Given the description of an element on the screen output the (x, y) to click on. 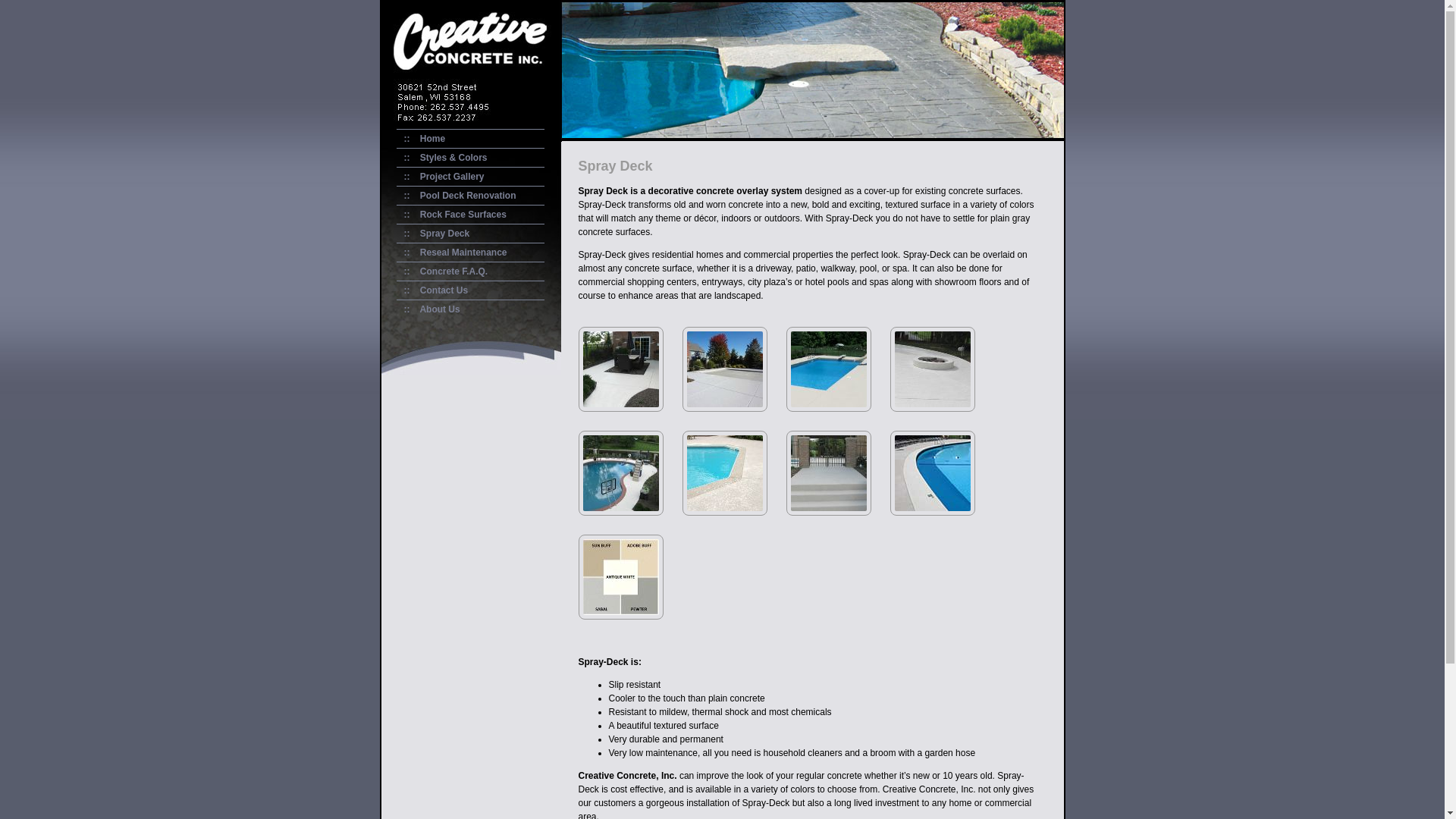
::    Concrete F.A.Q. Element type: text (441, 271)
::    Reseal Maintenance Element type: text (450, 252)
::    Pool Deck Renovation Element type: text (455, 195)
::    Project Gallery Element type: text (439, 176)
::    About Us Element type: text (427, 309)
::    Home Element type: text (420, 138)
::    Rock Face Surfaces Element type: text (450, 214)
::    Styles & Colors Element type: text (440, 157)
::    Spray Deck Element type: text (432, 233)
::    Contact Us Element type: text (431, 290)
